Given the description of an element on the screen output the (x, y) to click on. 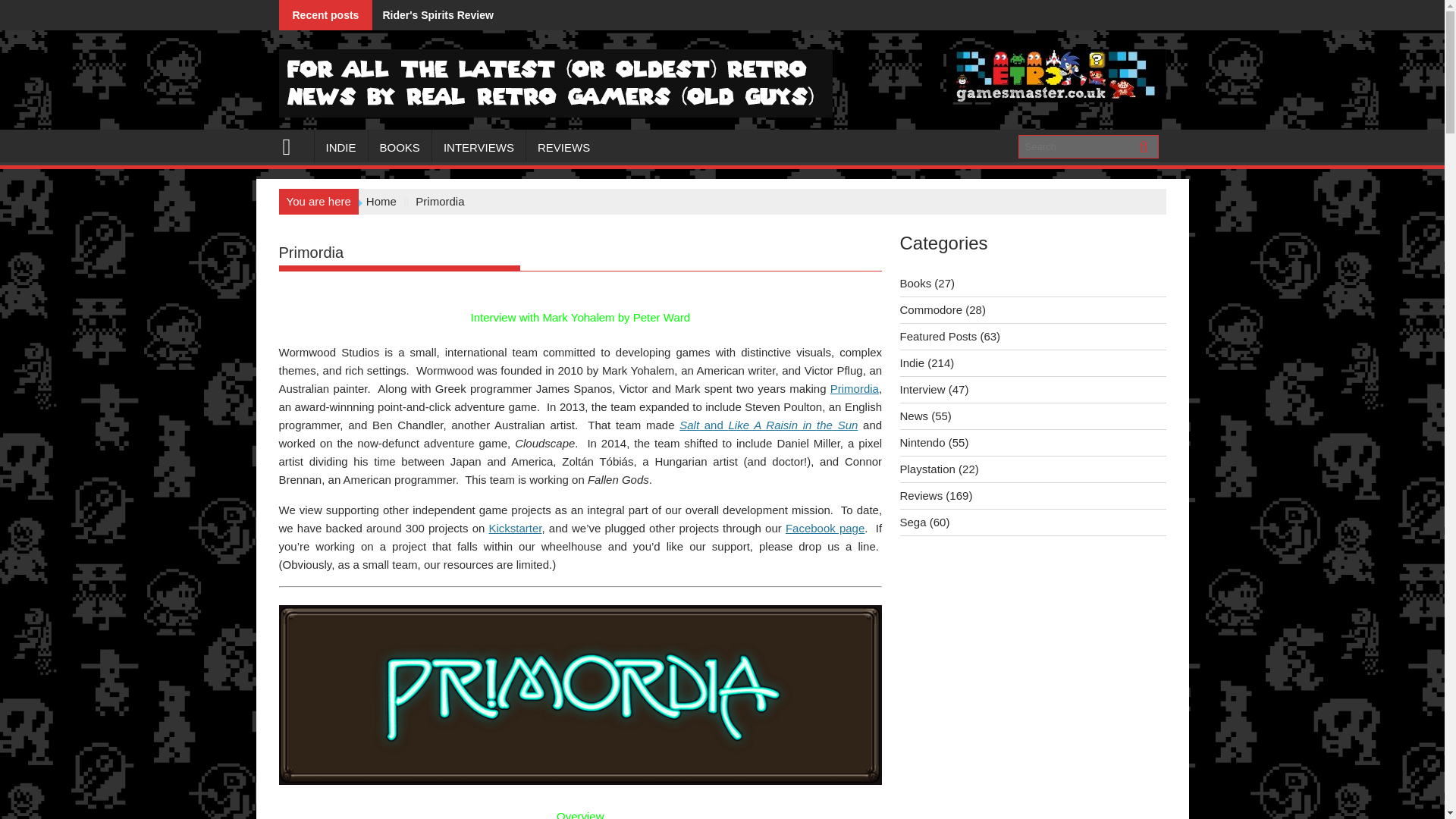
Home (381, 201)
Kickstarter (515, 527)
Books (915, 282)
Indie (911, 362)
REVIEWS (563, 147)
Interview (921, 389)
Rider's Spirits Review (432, 15)
Commodore (930, 309)
Primordia (854, 388)
RETRO GAMESMASTER (293, 145)
BOOKS (399, 147)
Nintendo (921, 441)
INTERVIEWS (478, 147)
Sega (912, 521)
Featured Posts (937, 336)
